Given the description of an element on the screen output the (x, y) to click on. 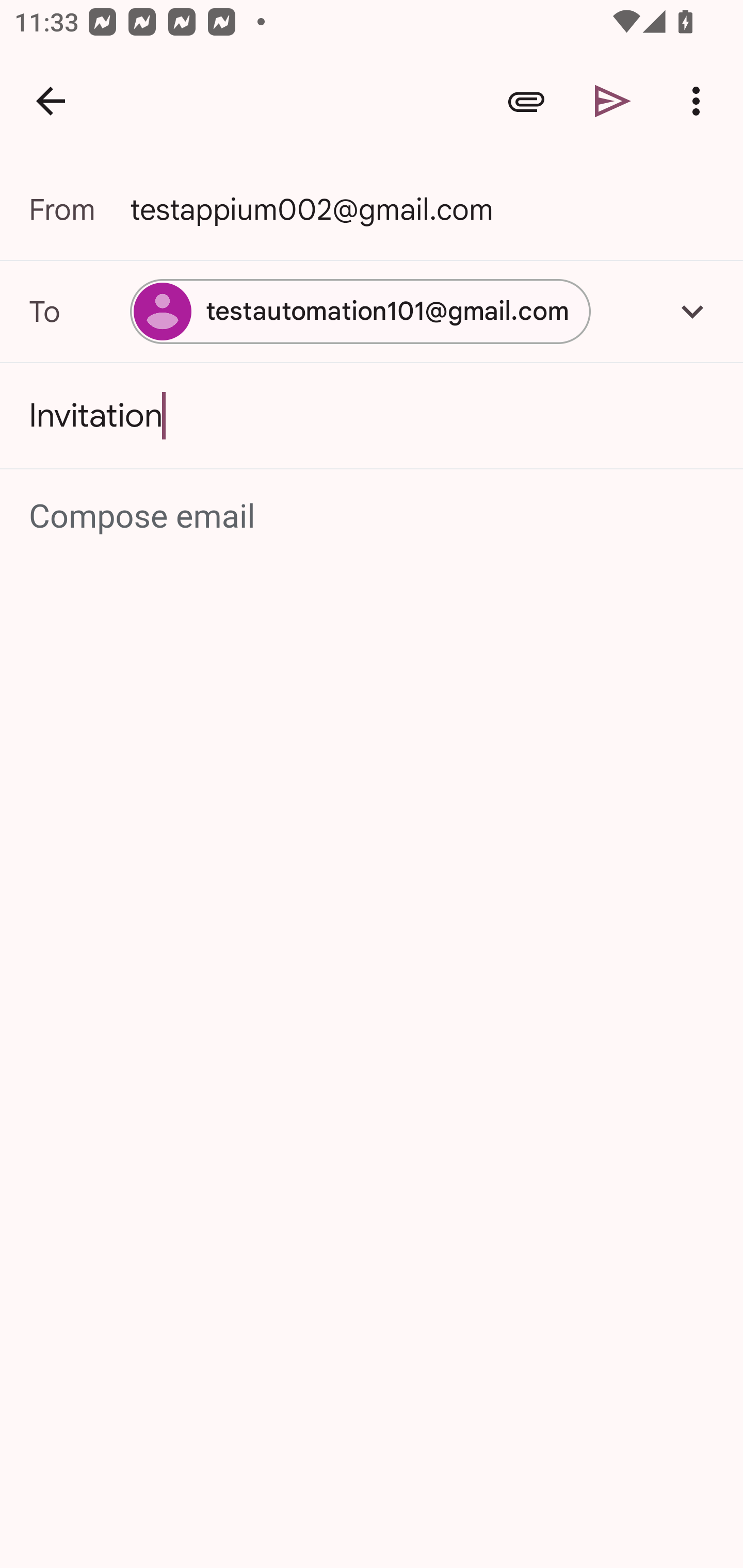
Navigate up (50, 101)
Attach file (525, 101)
Send (612, 101)
More options (699, 101)
From (79, 209)
Add Cc/Bcc (692, 311)
Invitation (371, 415)
Compose email (372, 517)
